Given the description of an element on the screen output the (x, y) to click on. 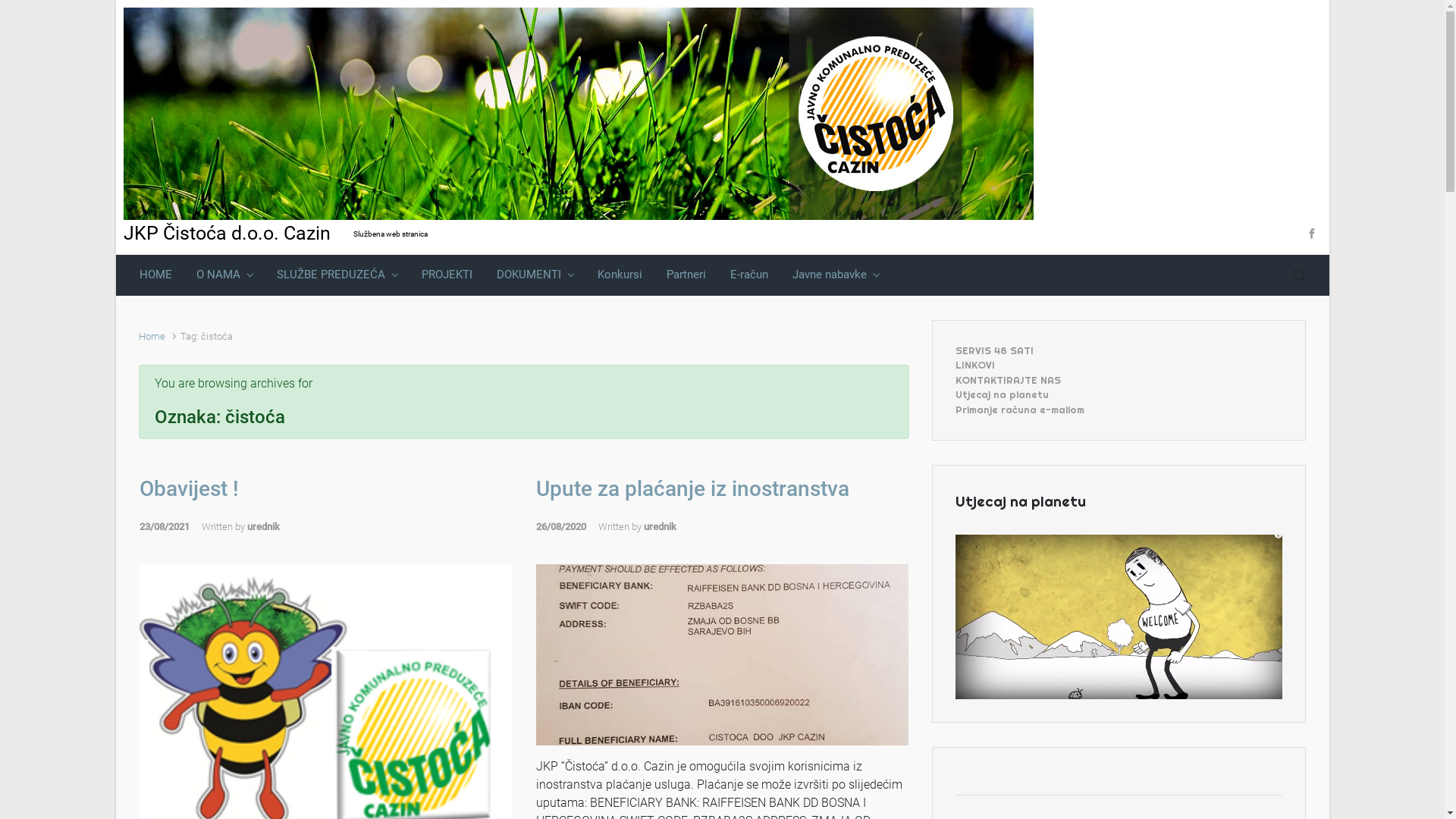
PROJEKTI Element type: text (446, 274)
urednik Element type: text (263, 526)
urednik Element type: text (659, 526)
HOME Element type: text (155, 274)
Javne nabavke Element type: text (834, 274)
26/08/2020 Element type: text (567, 526)
Utjecaj na planetu Element type: hover (1118, 616)
Utjecaj na planetu Element type: text (1001, 394)
O NAMA Element type: text (223, 274)
LINKOVI Element type: text (974, 365)
Home Element type: text (151, 336)
KONTAKTIRAJTE NAS Element type: text (1007, 379)
DOKUMENTI Element type: text (533, 274)
Obavijest ! Element type: text (188, 488)
SERVIS 48 SATI Element type: text (994, 350)
Konkursi Element type: text (619, 274)
Partneri Element type: text (685, 274)
23/08/2021 Element type: text (170, 526)
